Given the description of an element on the screen output the (x, y) to click on. 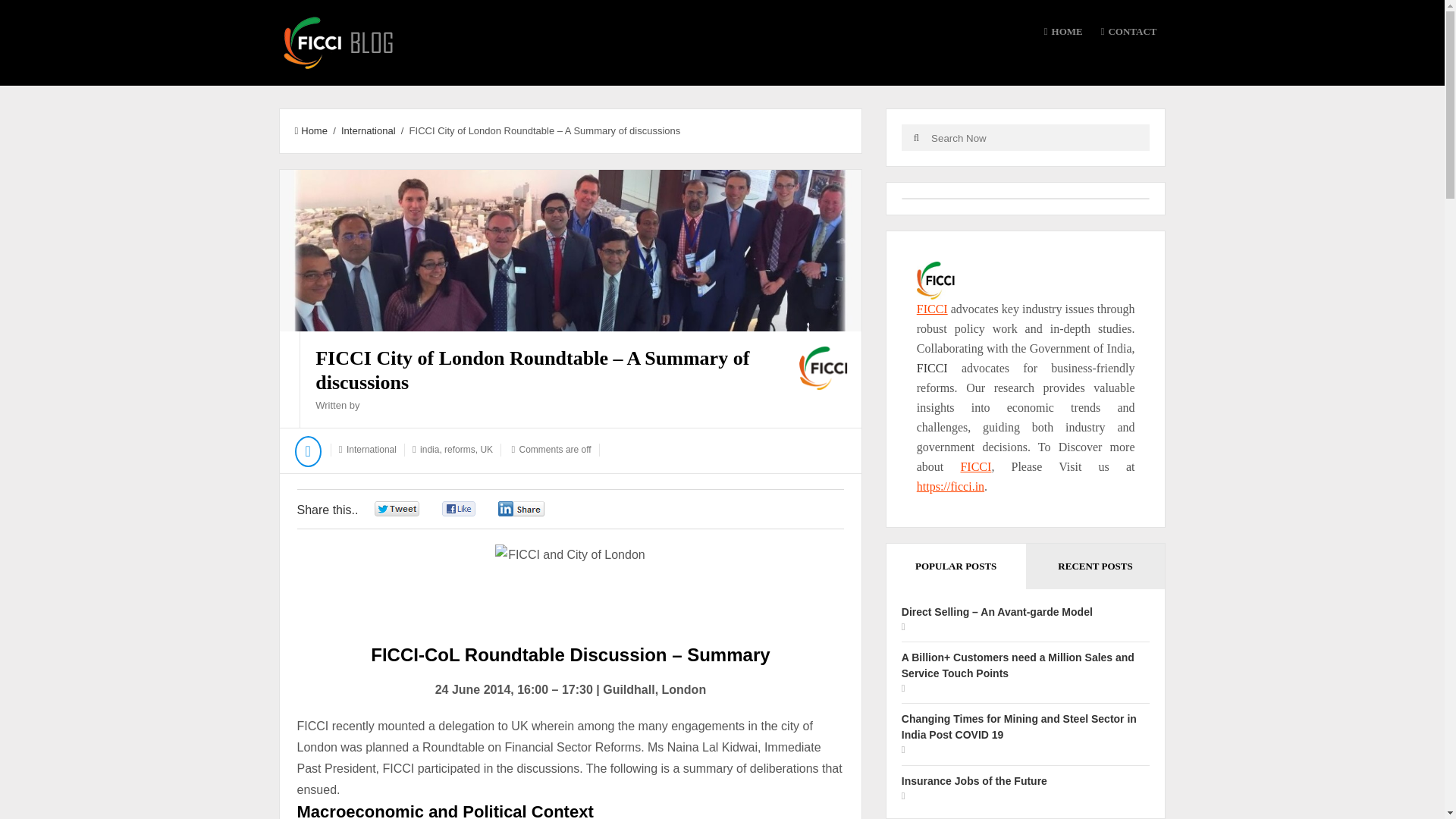
International (371, 449)
india (429, 449)
FICCI (932, 308)
FICCI (932, 367)
Insurance Jobs of the Future (973, 780)
International (368, 130)
Home (310, 130)
RECENT POSTS (1096, 565)
POPULAR POSTS (956, 565)
